Given the description of an element on the screen output the (x, y) to click on. 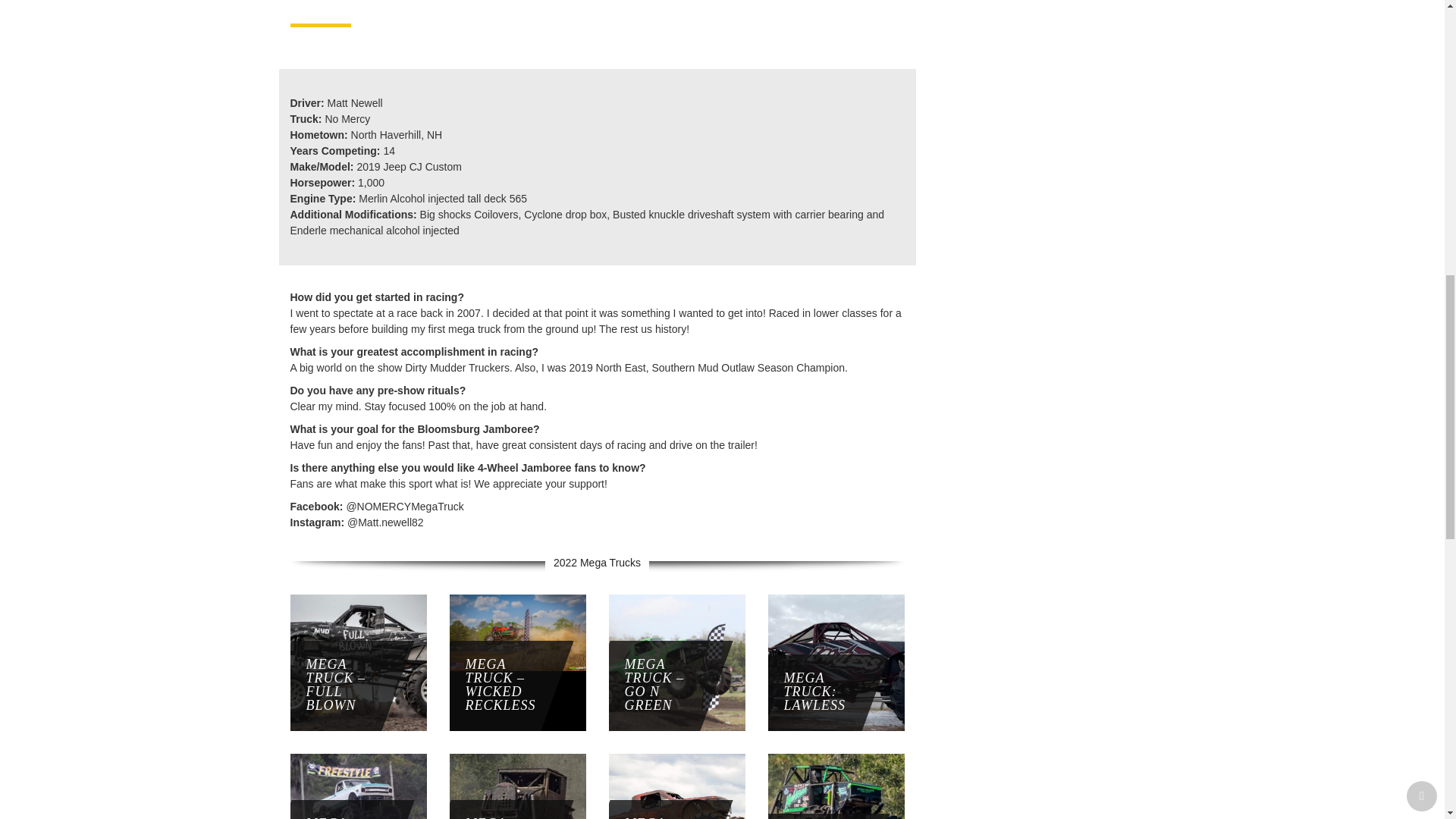
MEGA TRUCK: LAWLESS (799, 692)
Mega Truck: Lawless (835, 662)
Mega Truck: Air Mundy (357, 816)
MEGA TRUCK: DISORDERLY CONDUCT (478, 809)
Mega Truck: Lawless (835, 662)
MEGA TRUCK: AIR MUNDY (320, 809)
Mega Truck: Lawless (799, 692)
